Given the description of an element on the screen output the (x, y) to click on. 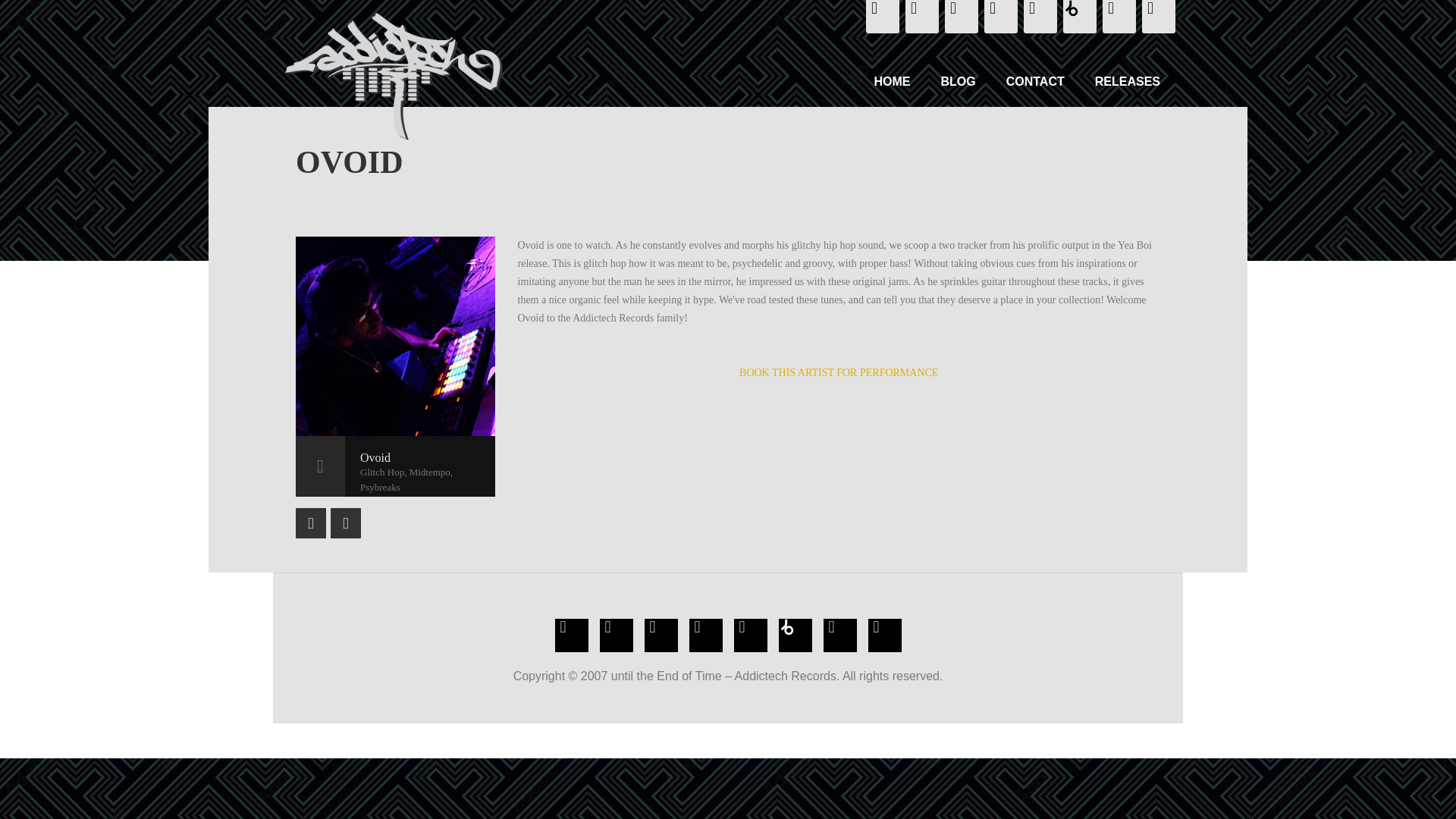
RELEASES (1127, 81)
BOOK THIS ARTIST FOR PERFORMANCE (838, 372)
BLOG (957, 81)
HOME (891, 81)
CONTACT (1035, 81)
